Given the description of an element on the screen output the (x, y) to click on. 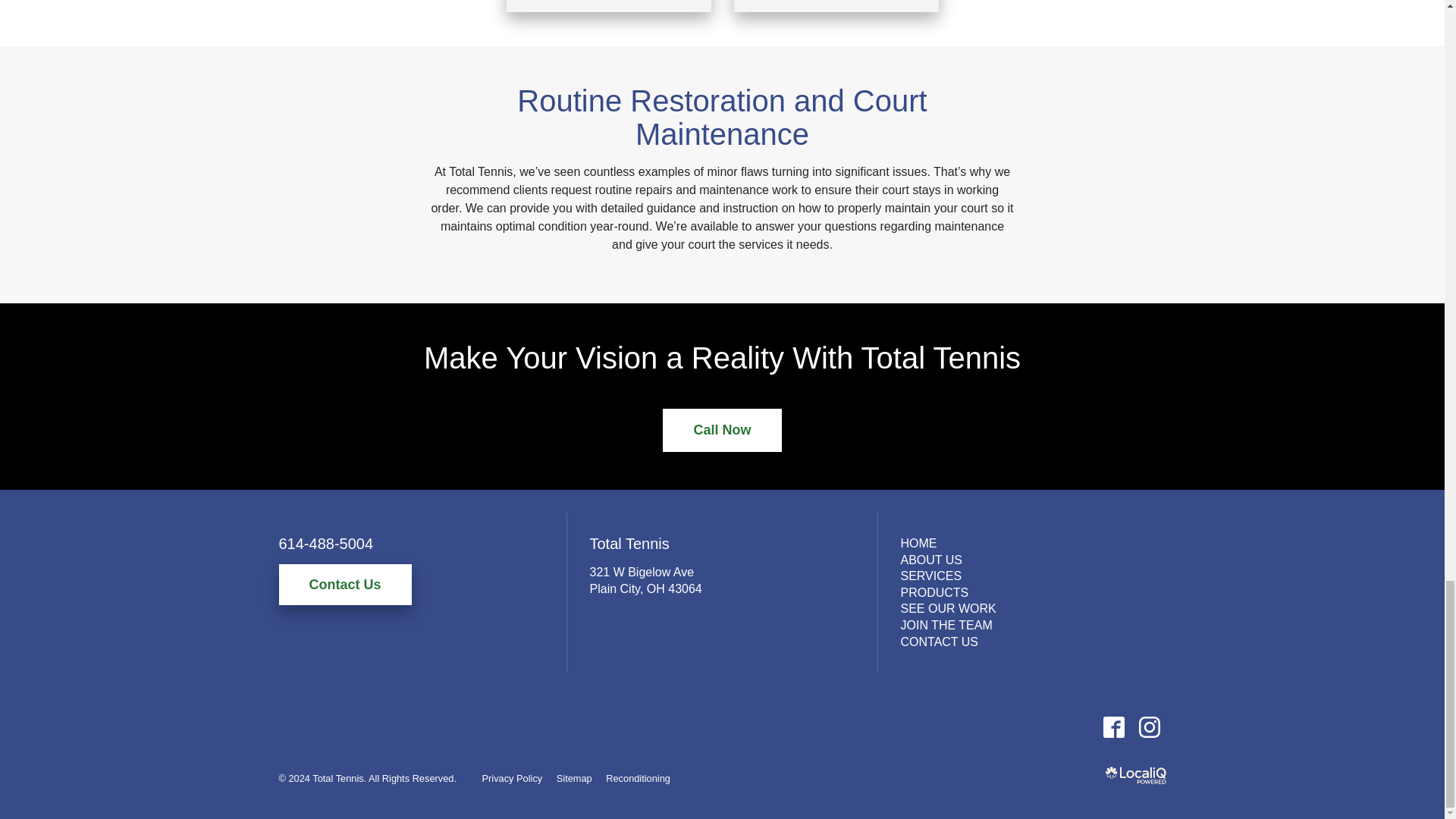
facebook (1113, 726)
instagram (1149, 726)
Call Now (721, 430)
